Given the description of an element on the screen output the (x, y) to click on. 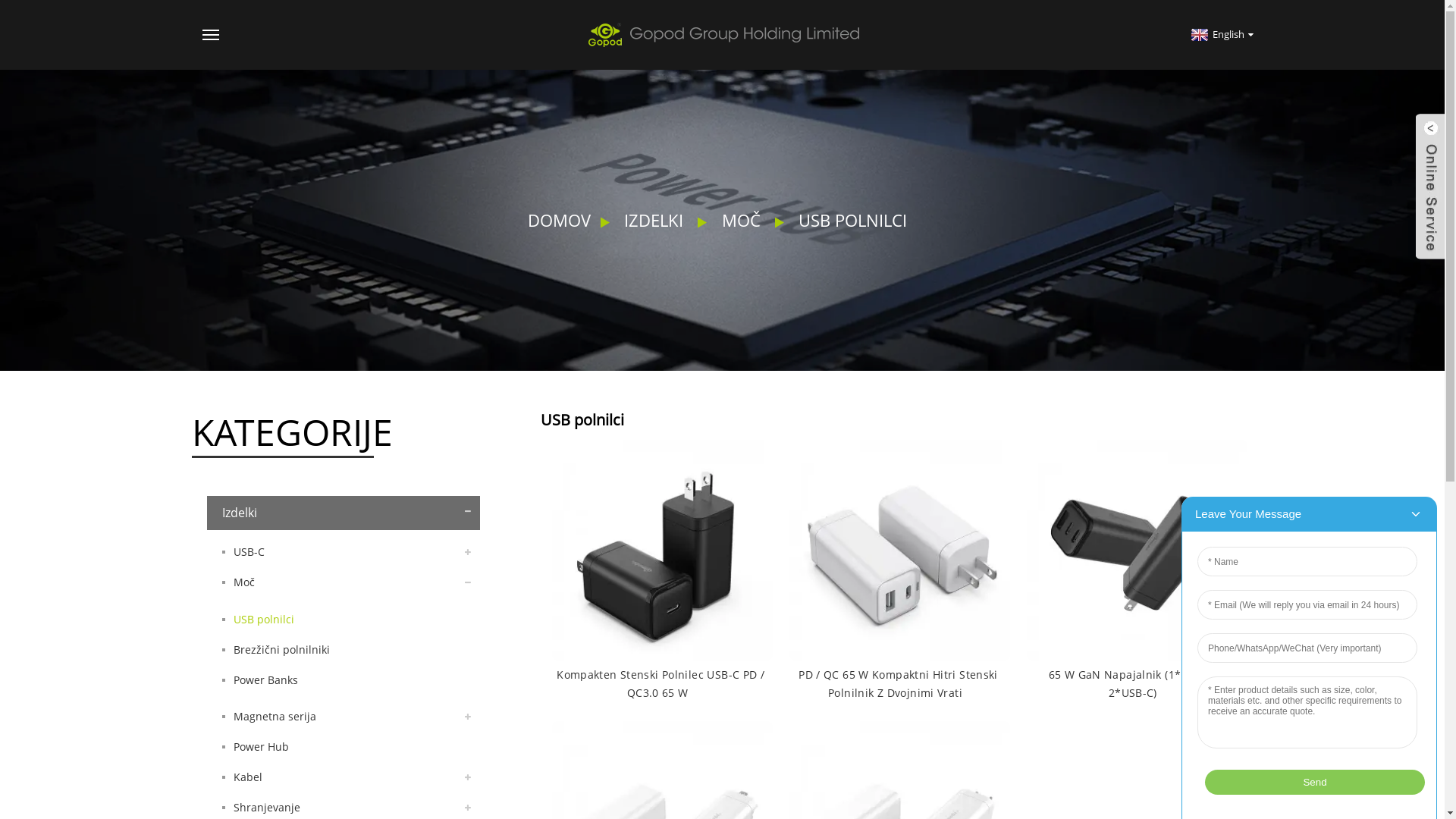
Izdelki Element type: text (342, 512)
USB polnilci Element type: text (342, 619)
Magnetna serija Element type: text (342, 716)
65 W GaN Napajalnik (1*USB-A + 2*USB-C) Element type: text (1134, 683)
IZDELKI Element type: text (653, 219)
Power Banks Element type: text (342, 680)
Kompakten Stenski Polnilec USB-C PD / QC3.0 65 W Element type: text (658, 683)
USB-C PD / QC3.0 65W Compact Wall Charger/ Element type: hover (661, 548)
English Element type: text (1220, 33)
USB-C Element type: text (342, 551)
DOMOV Element type: text (558, 219)
65W GaN Power Adapter(1*USB-A + 2*USB-C)/ Element type: hover (1136, 548)
USB POLNILCI Element type: text (852, 219)
Power Hub Element type: text (342, 746)
Kabel Element type: text (342, 777)
PD / QC 65W Dual Ports Compact fast Wall Charger/ Element type: hover (899, 548)
